Given the description of an element on the screen output the (x, y) to click on. 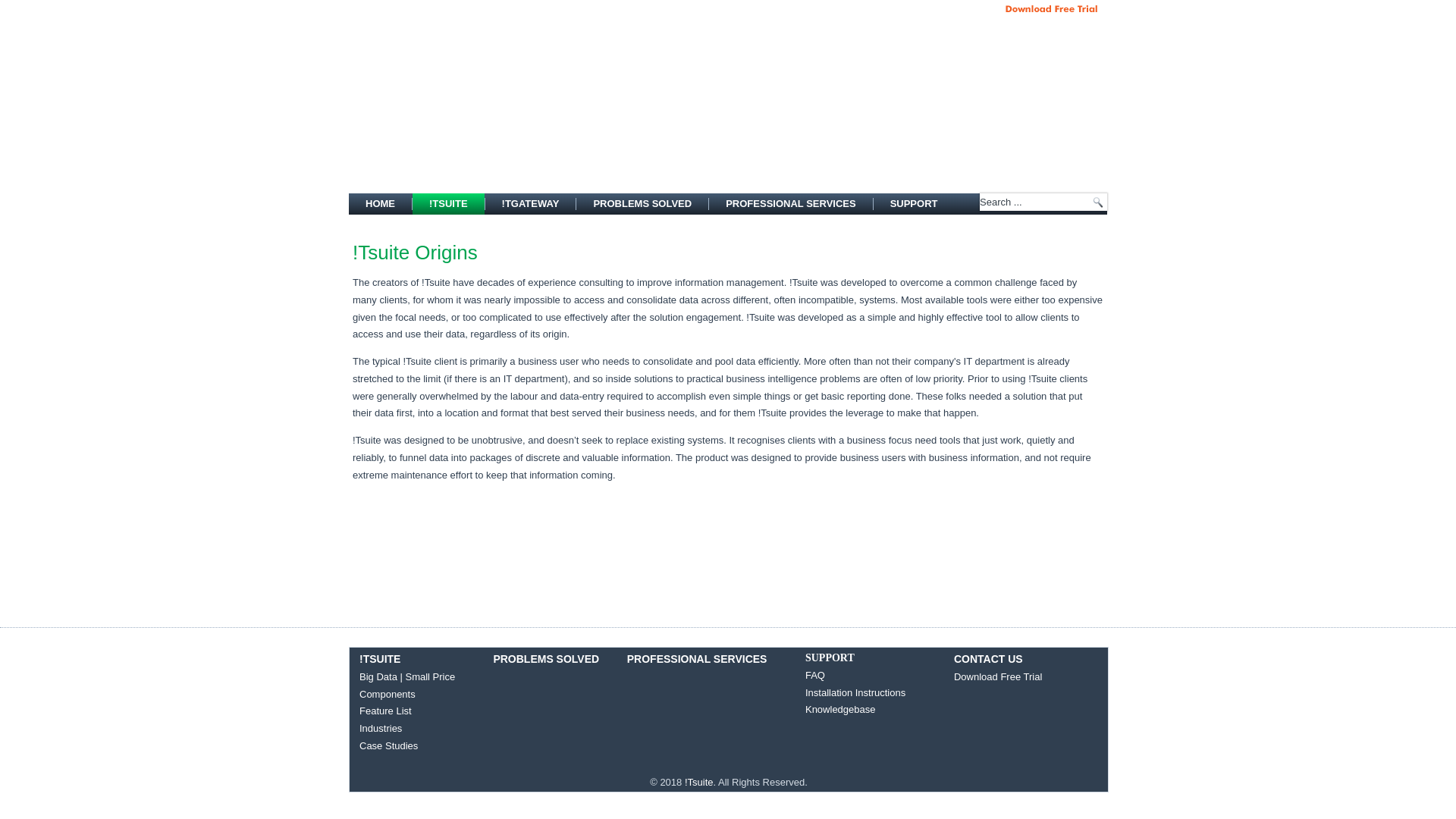
Case Studies (388, 745)
FAQ (815, 674)
Industries (380, 727)
Feature List (385, 710)
!TSUITE (379, 658)
PROBLEMS SOLVED (641, 203)
PROBLEMS SOLVED (545, 658)
Download Free Trial (997, 676)
HOME (380, 203)
Installation Instructions (855, 692)
